Given the description of an element on the screen output the (x, y) to click on. 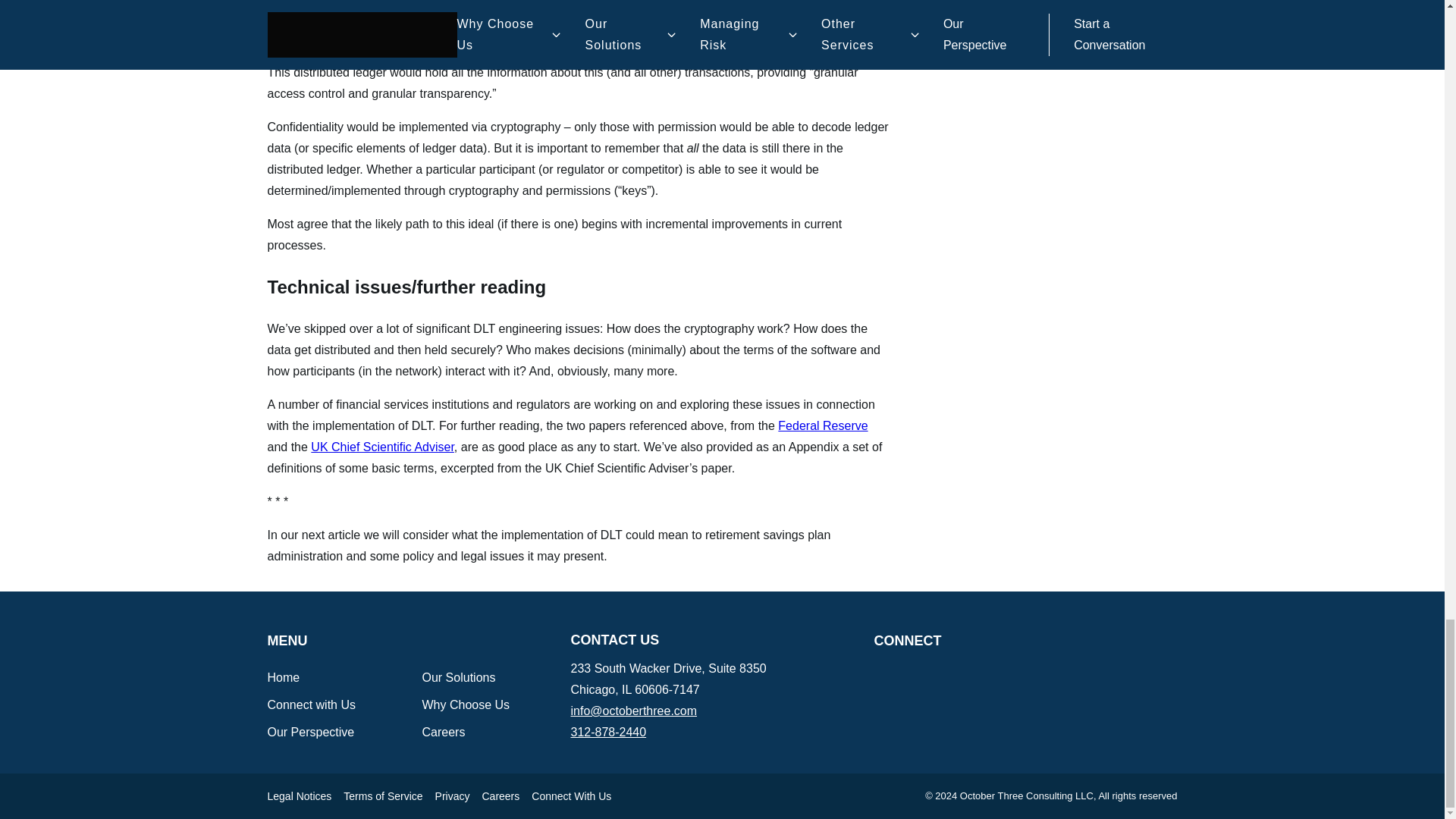
Connect with Us (310, 704)
Why Choose Us (465, 704)
Federal Reserve (822, 425)
Our Perspective (309, 731)
Home (282, 676)
Careers (443, 731)
Our Solutions (458, 676)
UK Chief Scientific Adviser (382, 446)
